Given the description of an element on the screen output the (x, y) to click on. 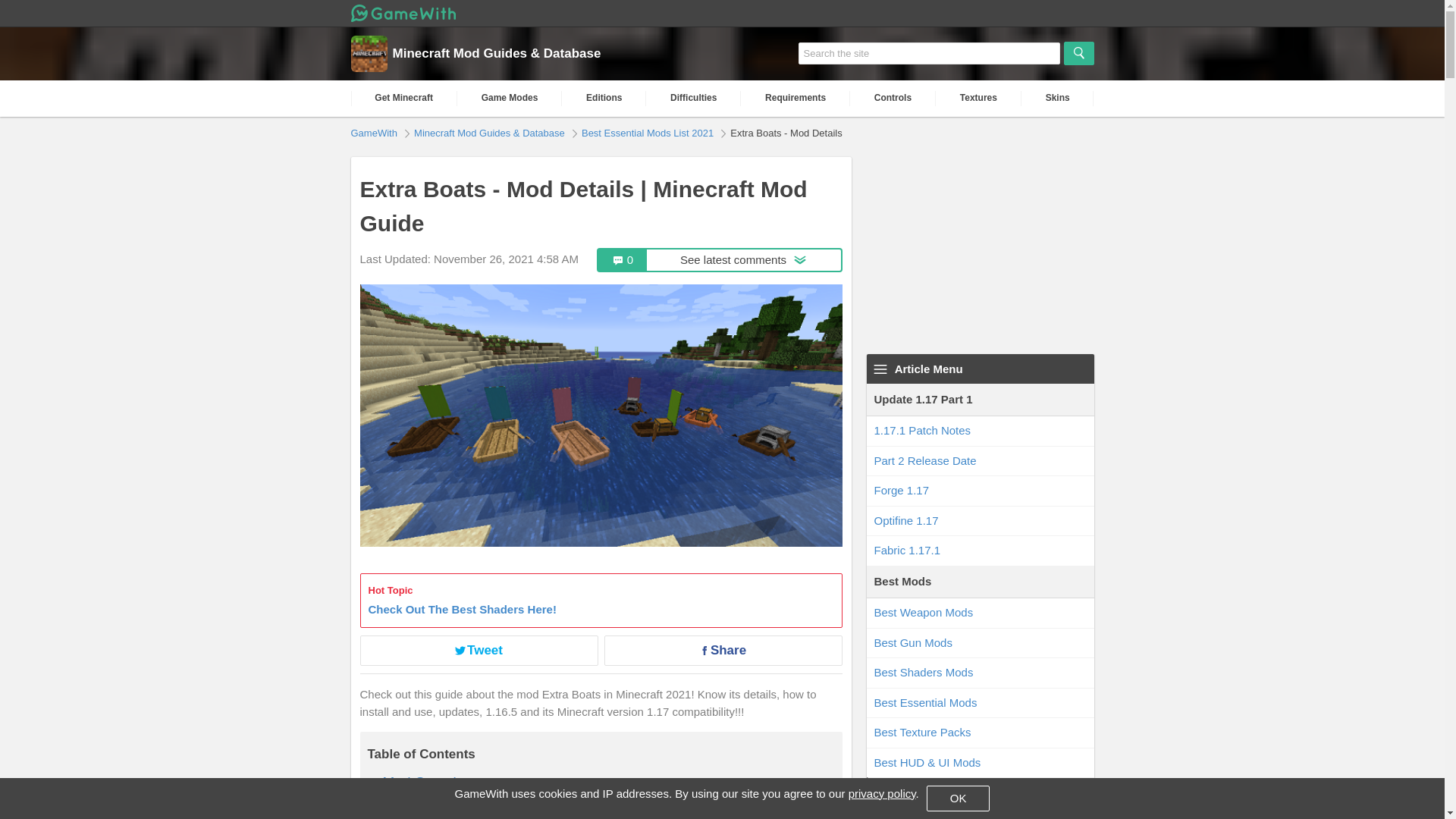
Mod Overview (427, 781)
Textures (979, 98)
Requirements (795, 98)
Skins (1058, 98)
Get Minecraft (403, 98)
Controls (893, 98)
privacy policy (881, 793)
Share (722, 650)
